Given the description of an element on the screen output the (x, y) to click on. 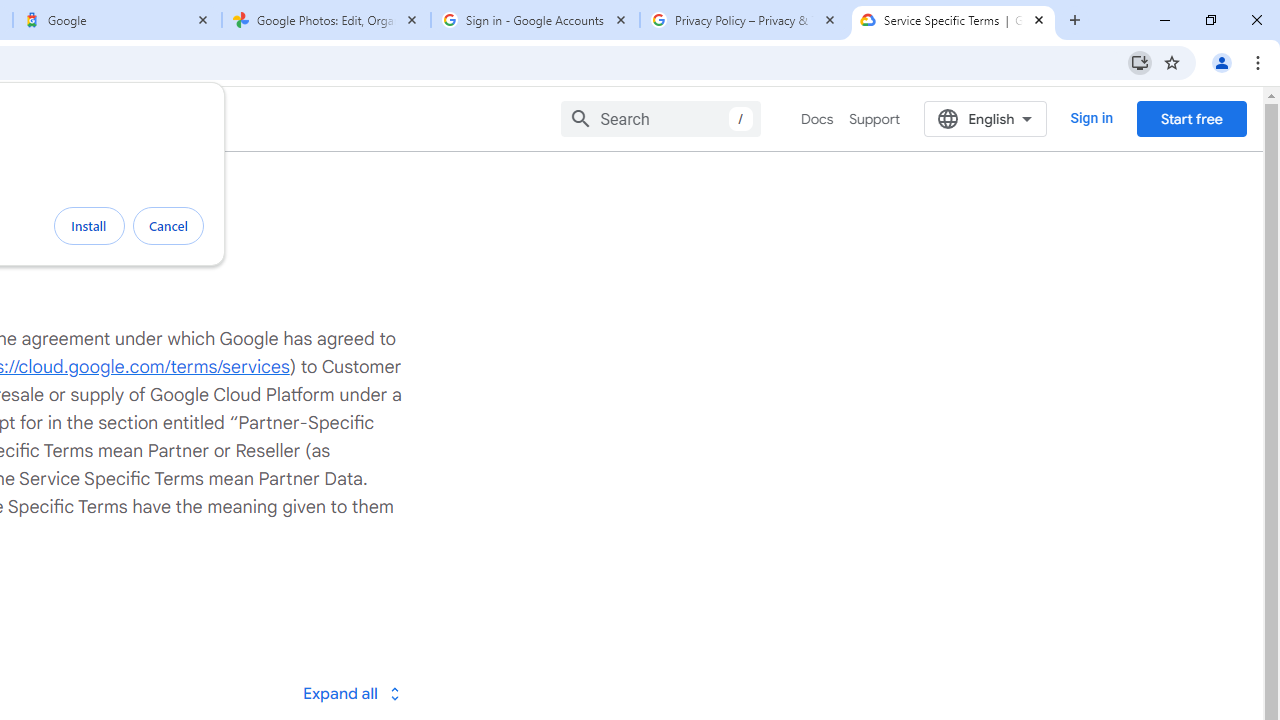
Sign in - Google Accounts (535, 20)
Support (874, 119)
Google (116, 20)
Install (89, 225)
Install Google Cloud (1139, 62)
